Given the description of an element on the screen output the (x, y) to click on. 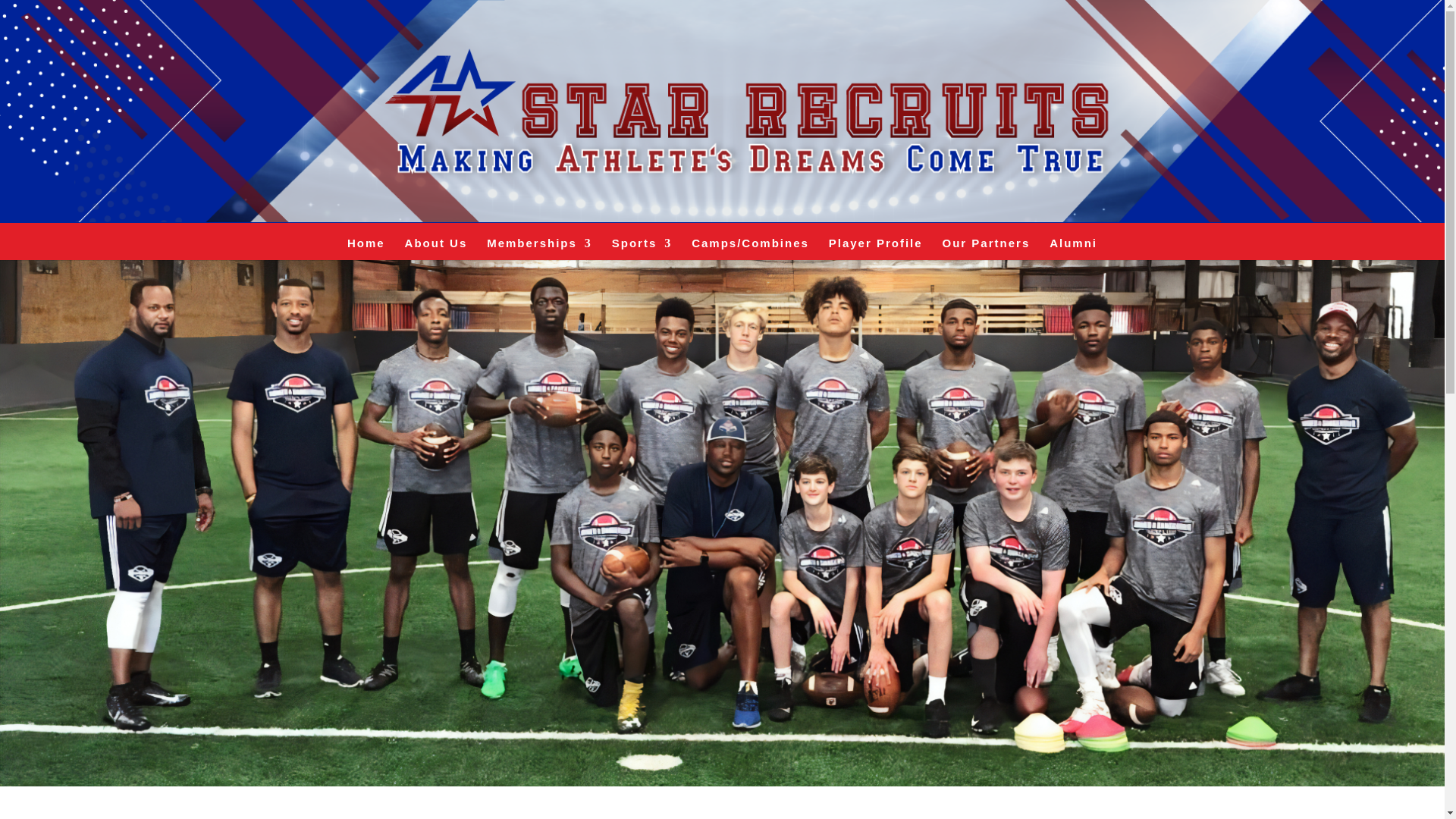
Home (366, 245)
About Us (435, 245)
Player Profile (875, 245)
Memberships (539, 245)
Sports (641, 245)
Our Partners (986, 245)
Alumni (1073, 245)
